Given the description of an element on the screen output the (x, y) to click on. 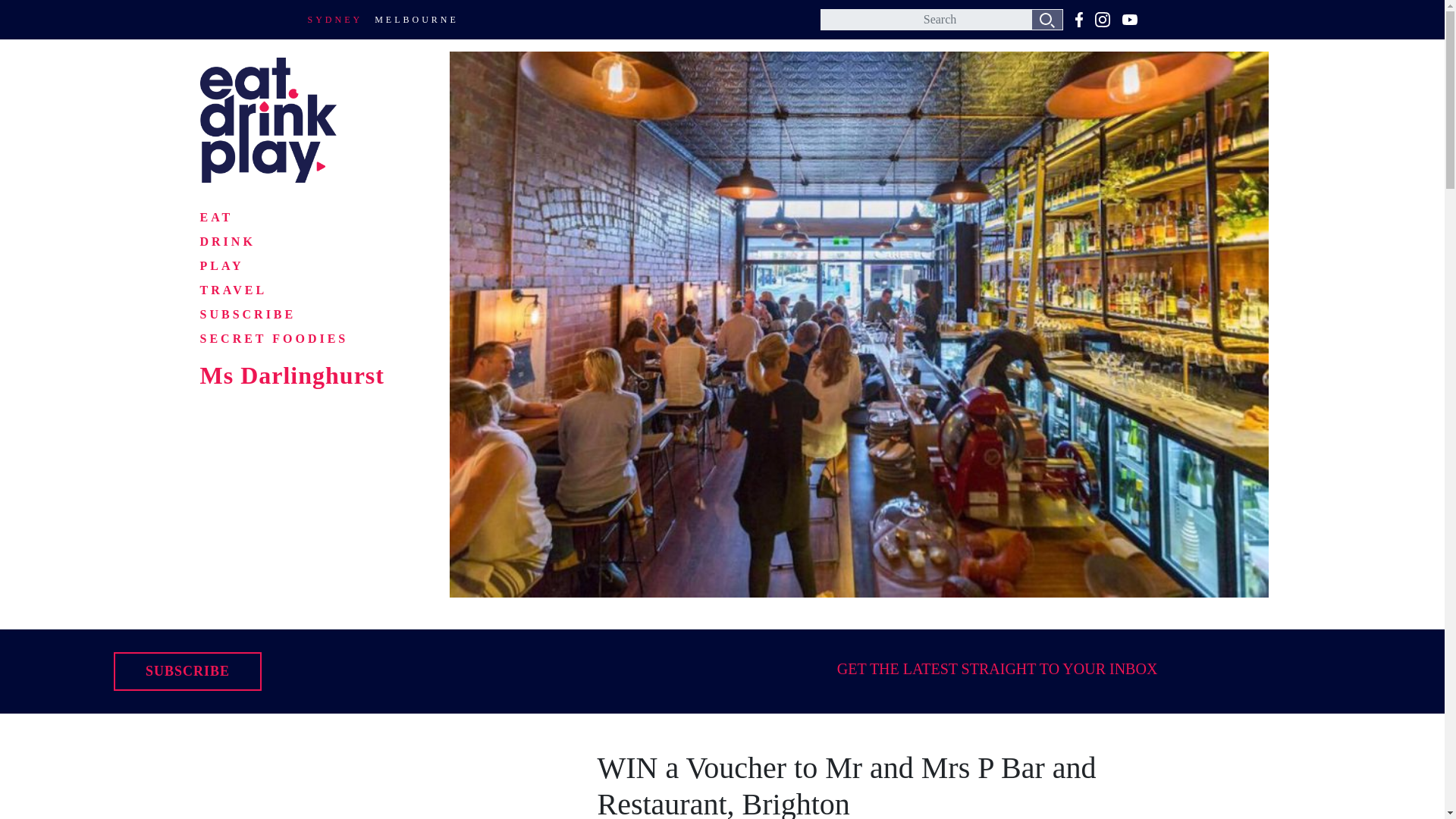
SYDNEY (335, 19)
TRAVEL (233, 289)
EAT (216, 216)
SECRET FOODIES (274, 338)
SUBSCRIBE (248, 314)
DRINK (228, 241)
MELBOURNE (416, 19)
SUBSCRIBE (187, 671)
Search for: (941, 19)
PLAY (222, 265)
Ms Darlinghurst (295, 375)
